Given the description of an element on the screen output the (x, y) to click on. 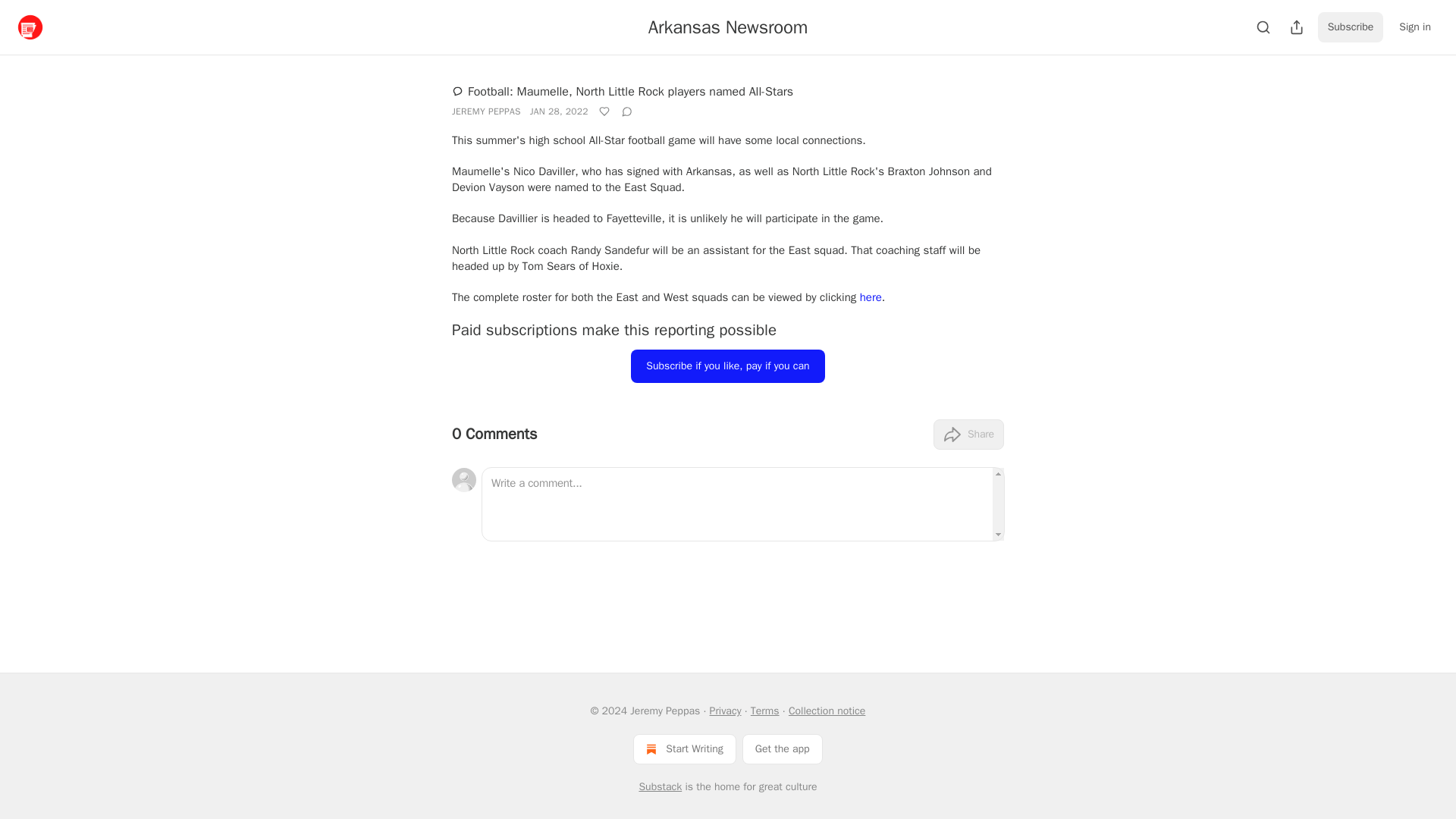
Substack (660, 786)
Start Writing (684, 748)
Get the app (782, 748)
JEREMY PEPPAS (486, 111)
Sign in (1415, 27)
Collection notice (826, 710)
Arkansas Newsroom (727, 26)
Privacy (725, 710)
Share (968, 434)
